Given the description of an element on the screen output the (x, y) to click on. 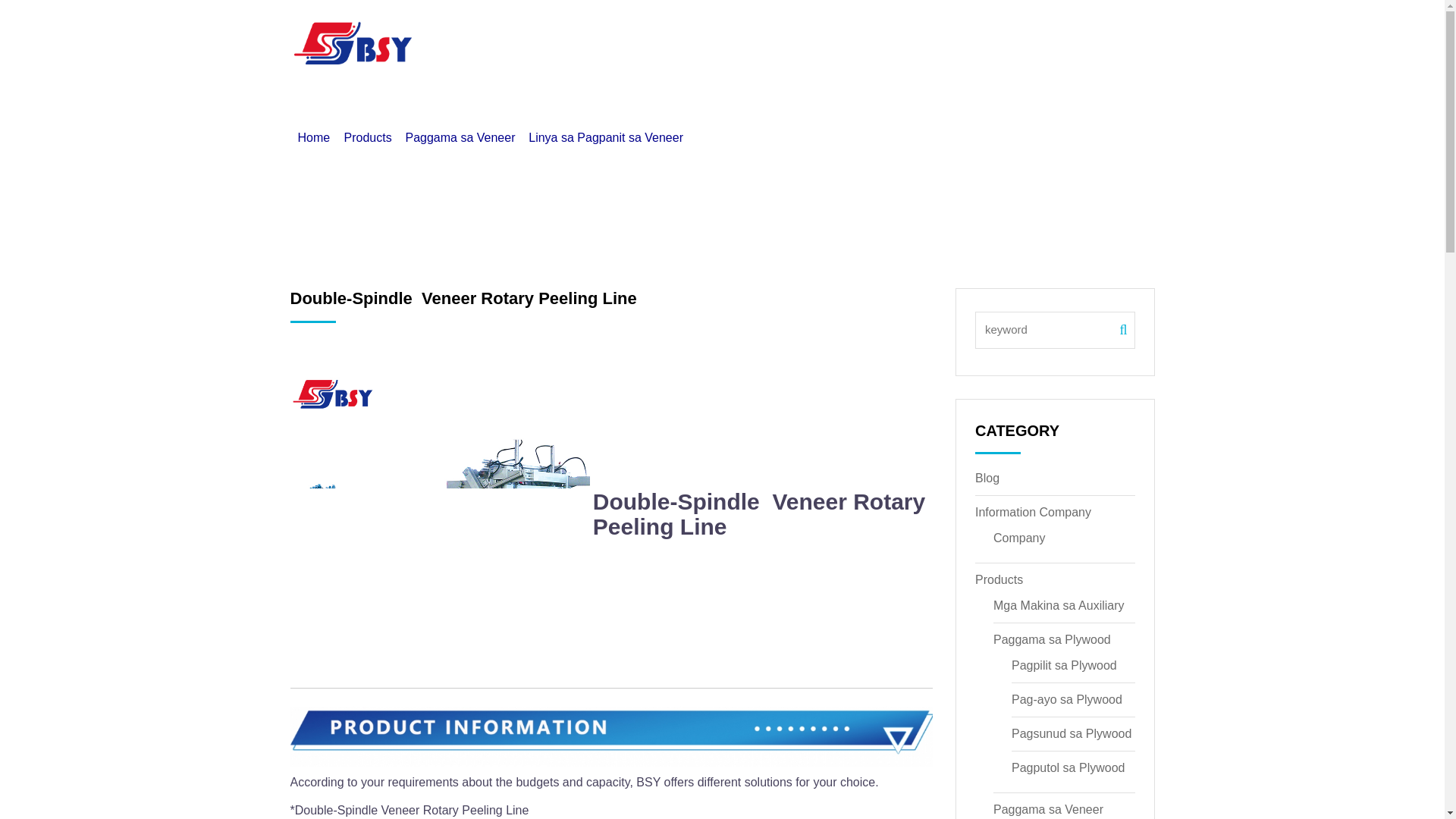
Blog (863, 31)
Contact Us (1016, 31)
Products (705, 31)
Home (630, 31)
Pangita (930, 31)
Company (792, 31)
Cebuano (1105, 31)
Cebuano (1116, 31)
